Given the description of an element on the screen output the (x, y) to click on. 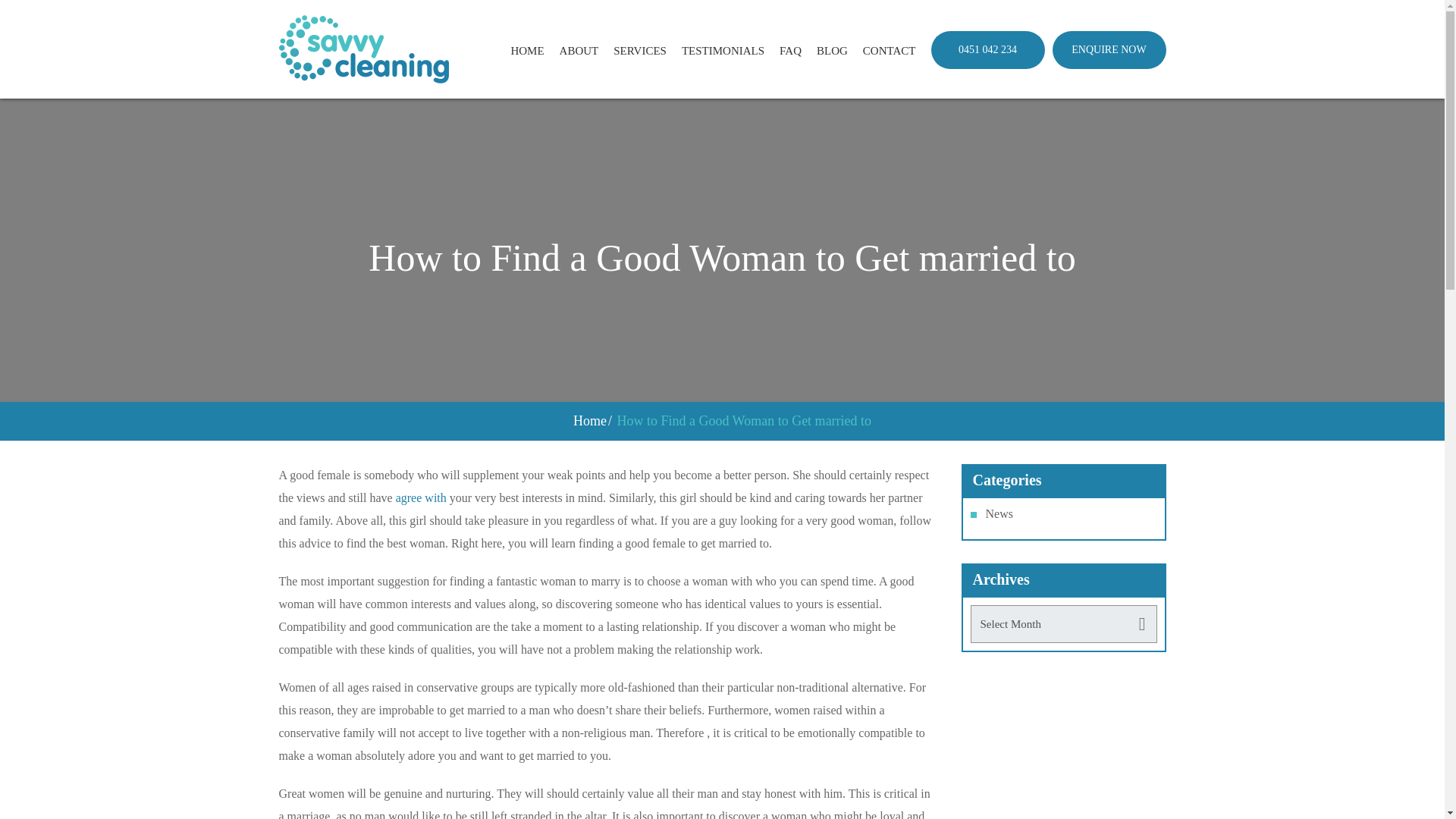
Home (590, 420)
ENQUIRY NOW (1109, 48)
TESTIMONIALS (722, 50)
News (999, 513)
0451 042 234 (988, 48)
agree with (421, 497)
Home (590, 420)
0451 042 234 (988, 48)
SERVICES (639, 50)
HOME (527, 50)
ENQUIRE NOW (1109, 48)
ABOUT (578, 50)
FAQ (790, 50)
CONTACT (889, 50)
BLOG (831, 50)
